Given the description of an element on the screen output the (x, y) to click on. 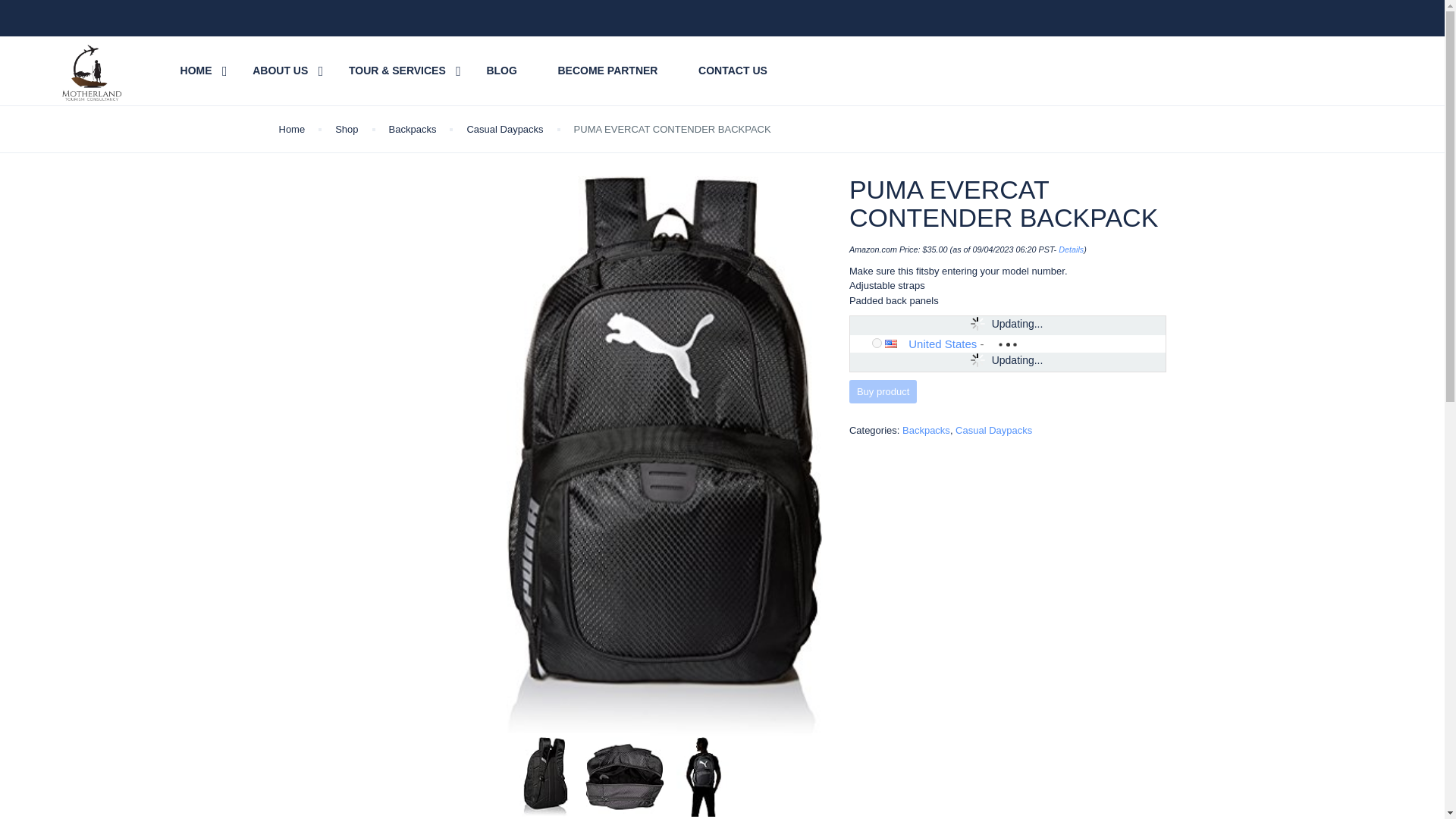
United States (896, 343)
on (877, 343)
Backpacks (926, 430)
Backpacks (412, 129)
Details (1070, 248)
PUMA-Evercat-Contender-Backpack (624, 776)
BLOG (501, 70)
PUMA-Evercat-Contender-Backpack (702, 776)
PUMA-Evercat-Contender-Backpack (545, 776)
CONTACT US (732, 70)
United States (942, 343)
Home (292, 129)
Casual Daypacks (504, 129)
ABOUT US (279, 70)
BECOME PARTNER (607, 70)
